Given the description of an element on the screen output the (x, y) to click on. 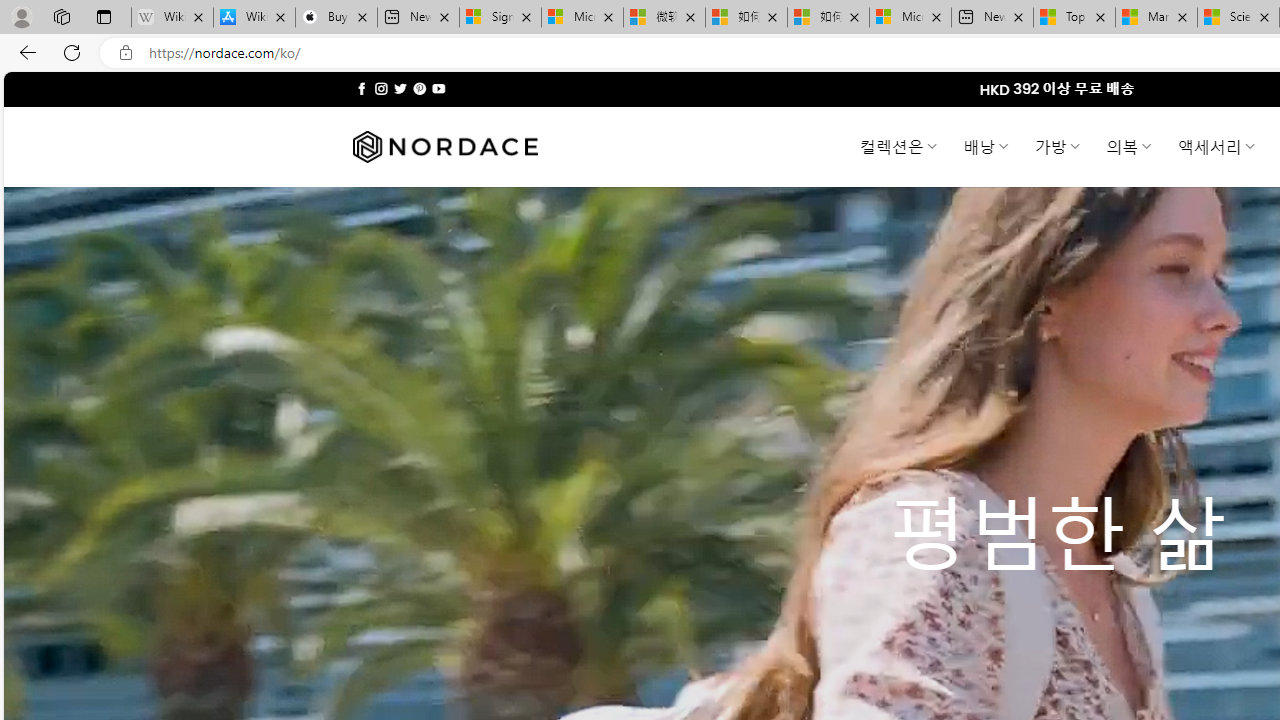
Follow on Facebook (361, 88)
Follow on Pinterest (419, 88)
Sign in to your Microsoft account (500, 17)
Follow on YouTube (438, 88)
Follow on Instagram (381, 88)
